Given the description of an element on the screen output the (x, y) to click on. 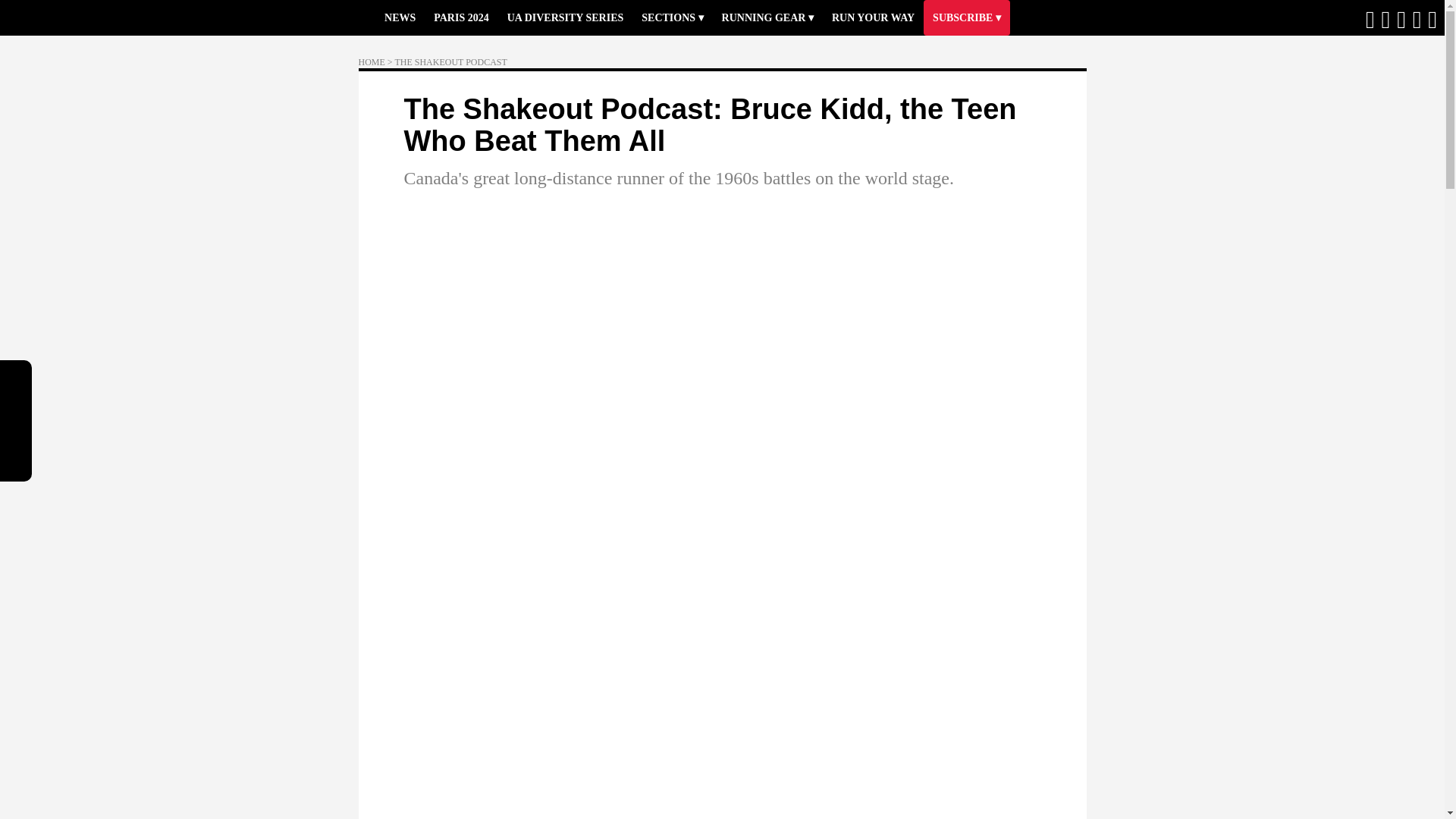
RUN YOUR WAY (872, 18)
UA DIVERSITY SERIES (565, 18)
PARIS 2024 (461, 18)
RUNNING GEAR (767, 18)
SUBSCRIBE (966, 18)
The Shakeout Podcast: Bruce Kidd, the Teen Who Beat Them All (709, 125)
NEWS (400, 18)
The Shakeout Podcast: Bruce Kidd, the Teen Who Beat Them All (709, 125)
SECTIONS (671, 18)
